Given the description of an element on the screen output the (x, y) to click on. 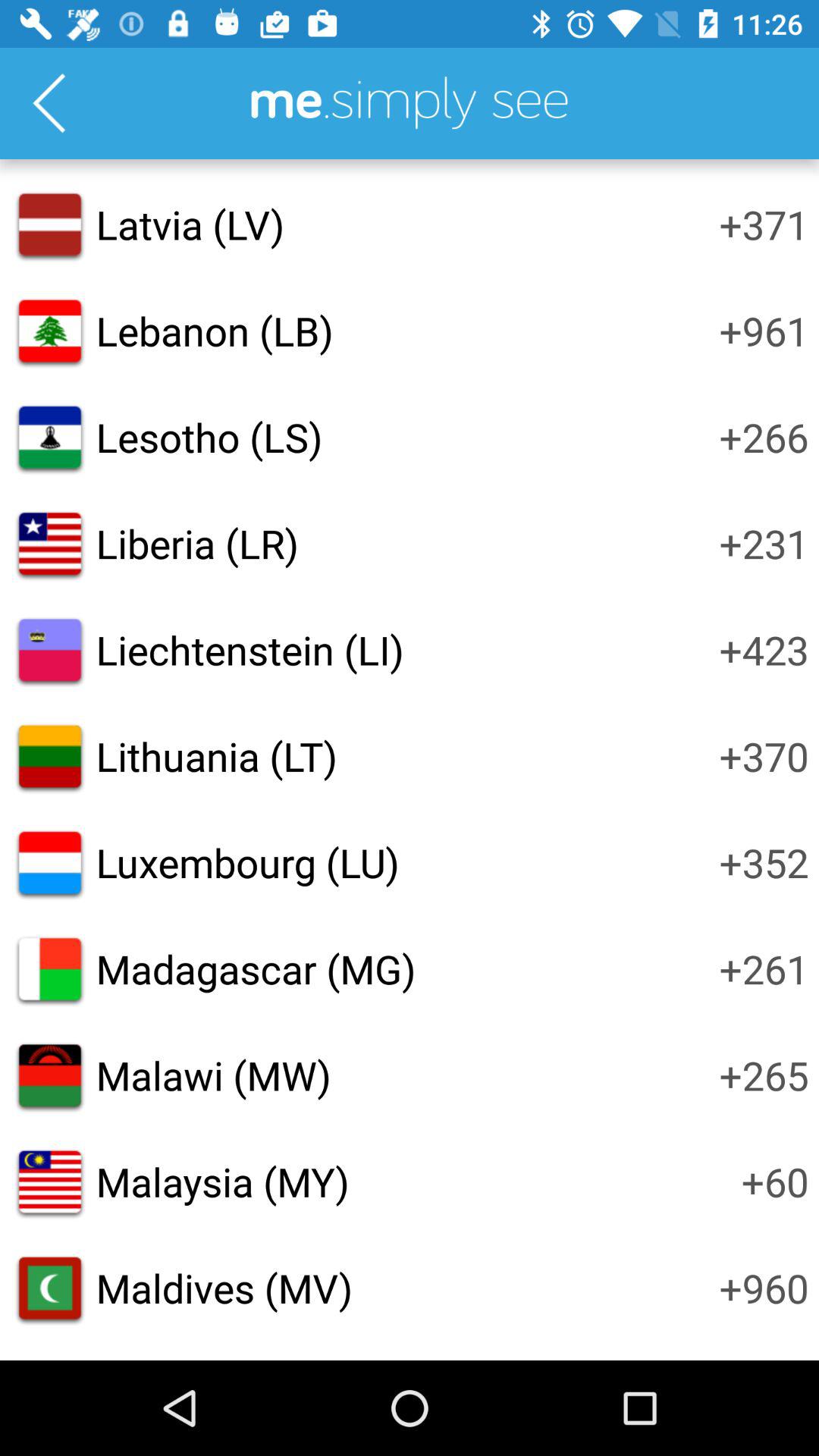
launch the item to the right of the luxembourg (lu) (763, 862)
